Given the description of an element on the screen output the (x, y) to click on. 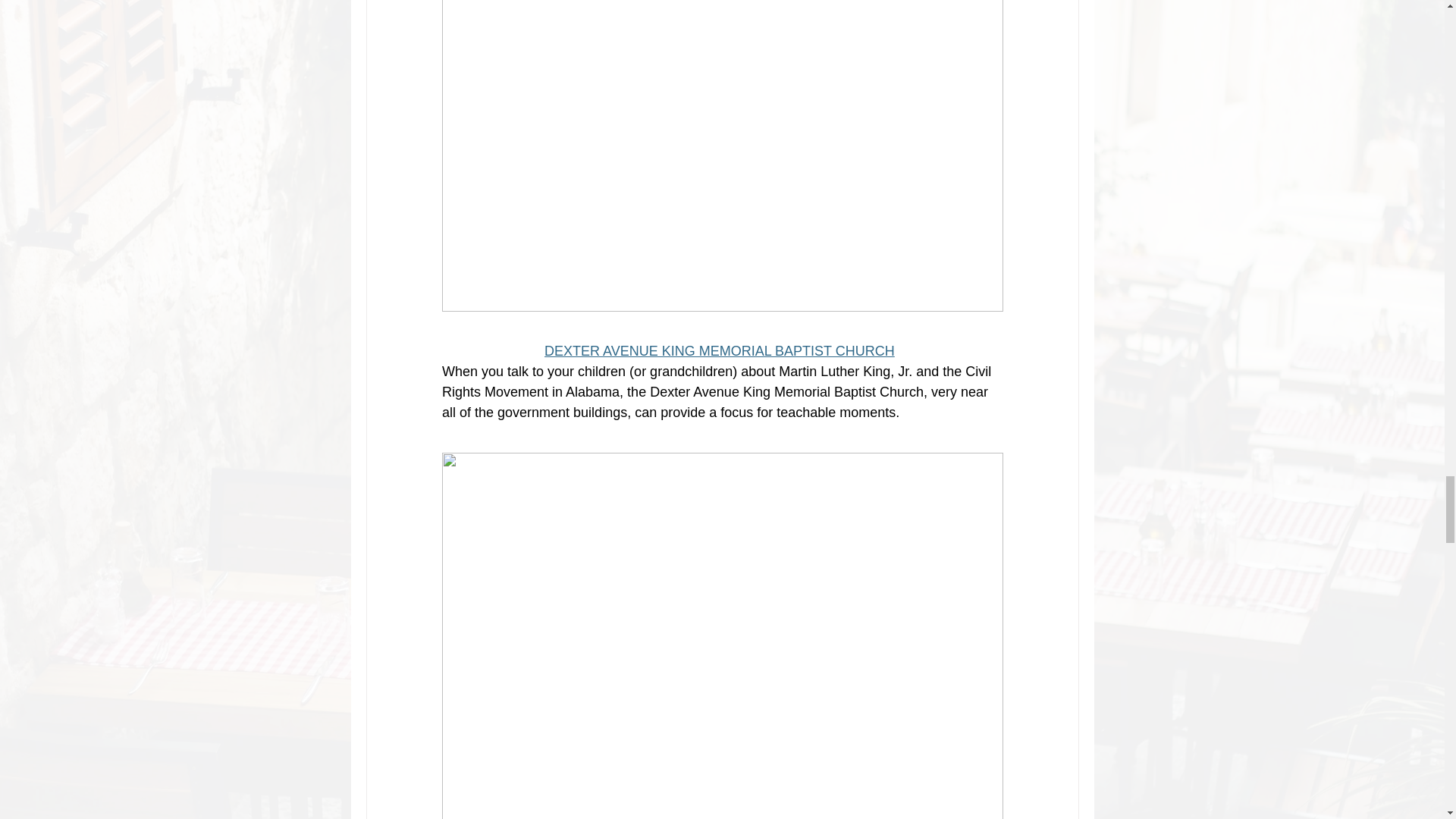
DEXTER AVENUE KING MEMORIAL BAPTIST CHURCH (719, 350)
